Given the description of an element on the screen output the (x, y) to click on. 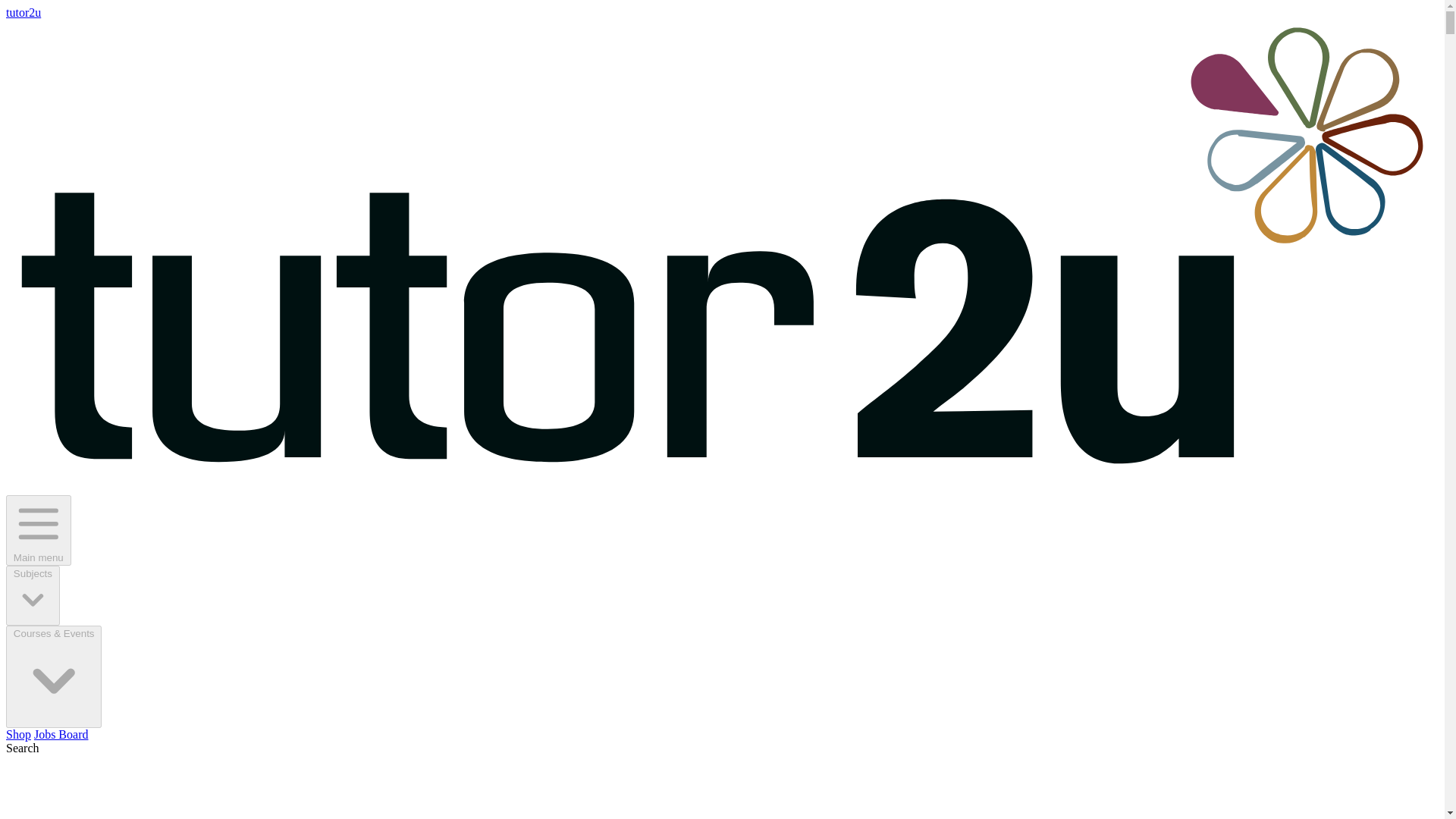
Subjects (32, 595)
Shop (17, 734)
Main menu (38, 530)
Jobs Board (60, 734)
